Given the description of an element on the screen output the (x, y) to click on. 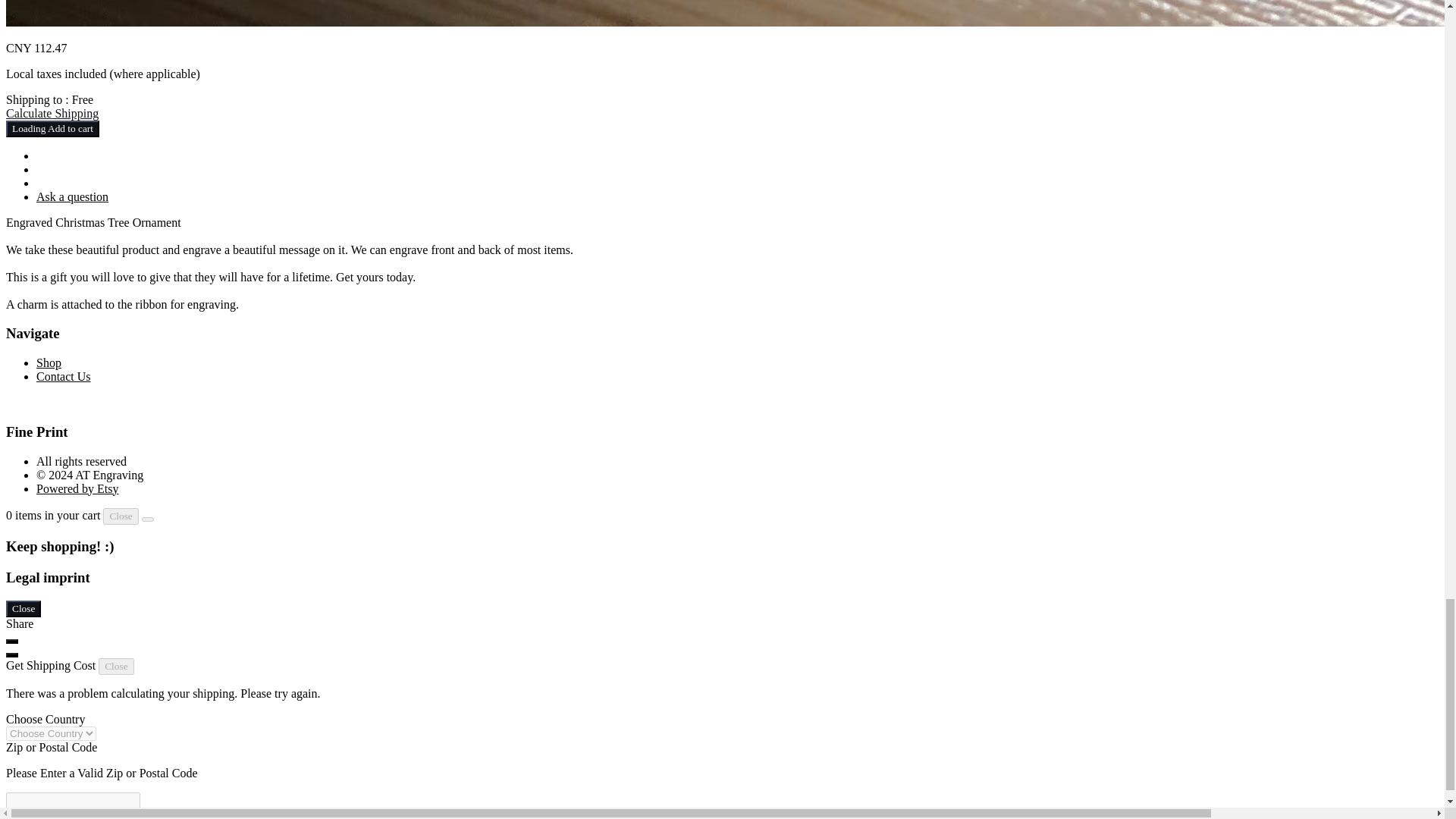
Shop (48, 362)
Close (116, 666)
Close (120, 515)
Contact Us (63, 376)
Powered by Etsy (76, 488)
Ask a question (71, 196)
Loading Add to cart (52, 128)
Close (22, 608)
Calculate Shipping (52, 113)
